Given the description of an element on the screen output the (x, y) to click on. 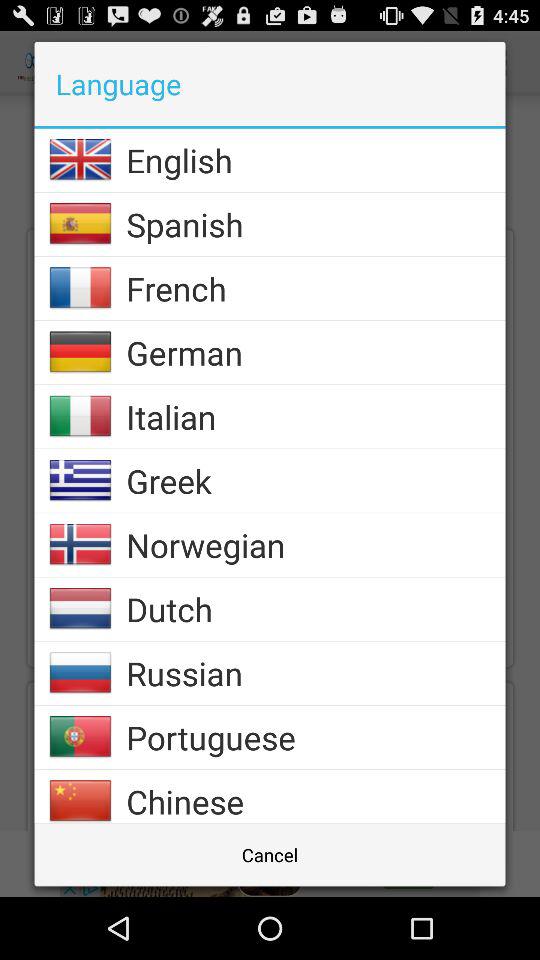
launch icon above chinese icon (315, 737)
